Given the description of an element on the screen output the (x, y) to click on. 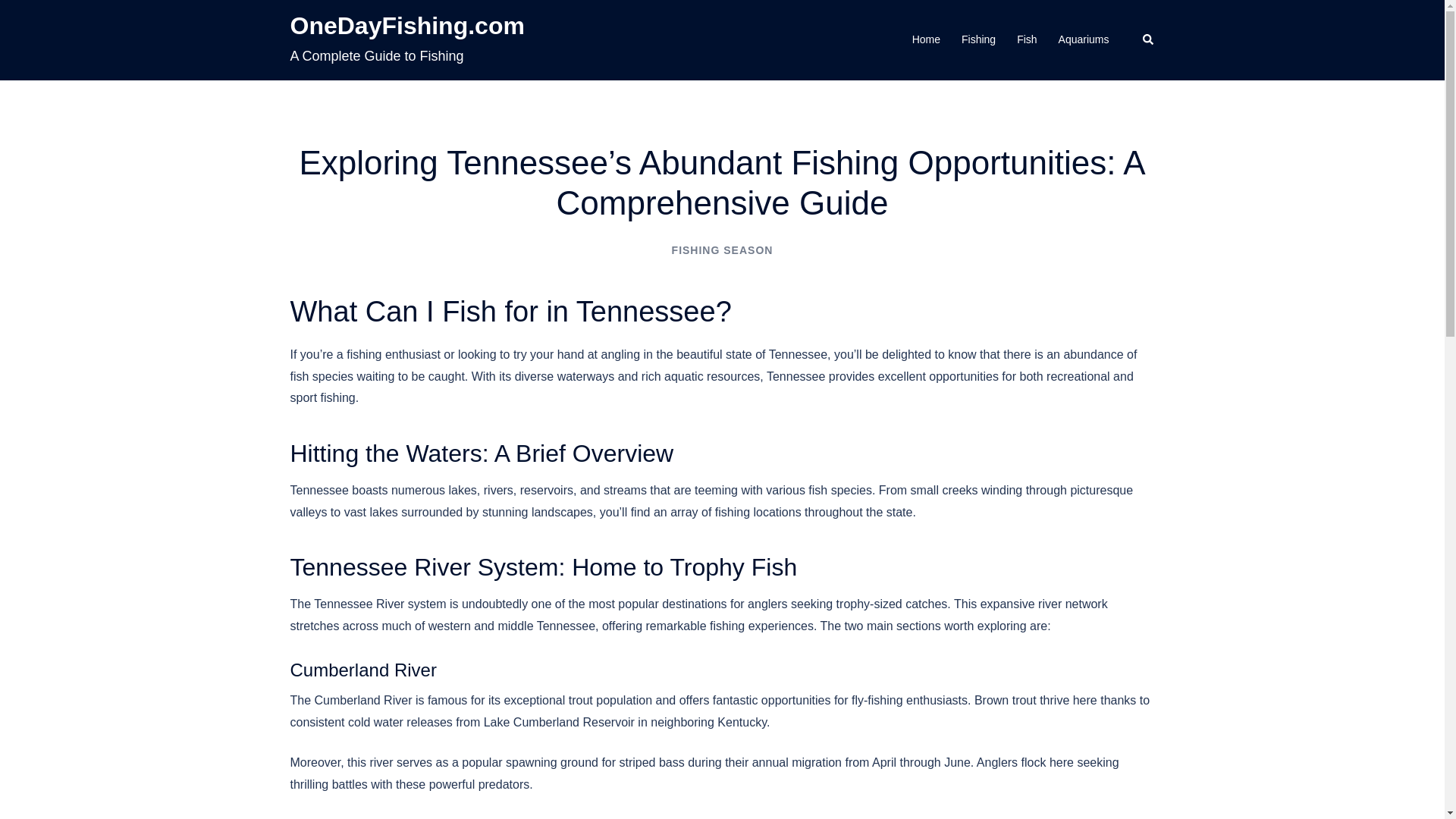
Home (926, 39)
FISHING SEASON (722, 250)
Aquariums (1083, 39)
Fish (1026, 39)
Search (1147, 39)
Fishing (977, 39)
OneDayFishing.com (406, 25)
